Given the description of an element on the screen output the (x, y) to click on. 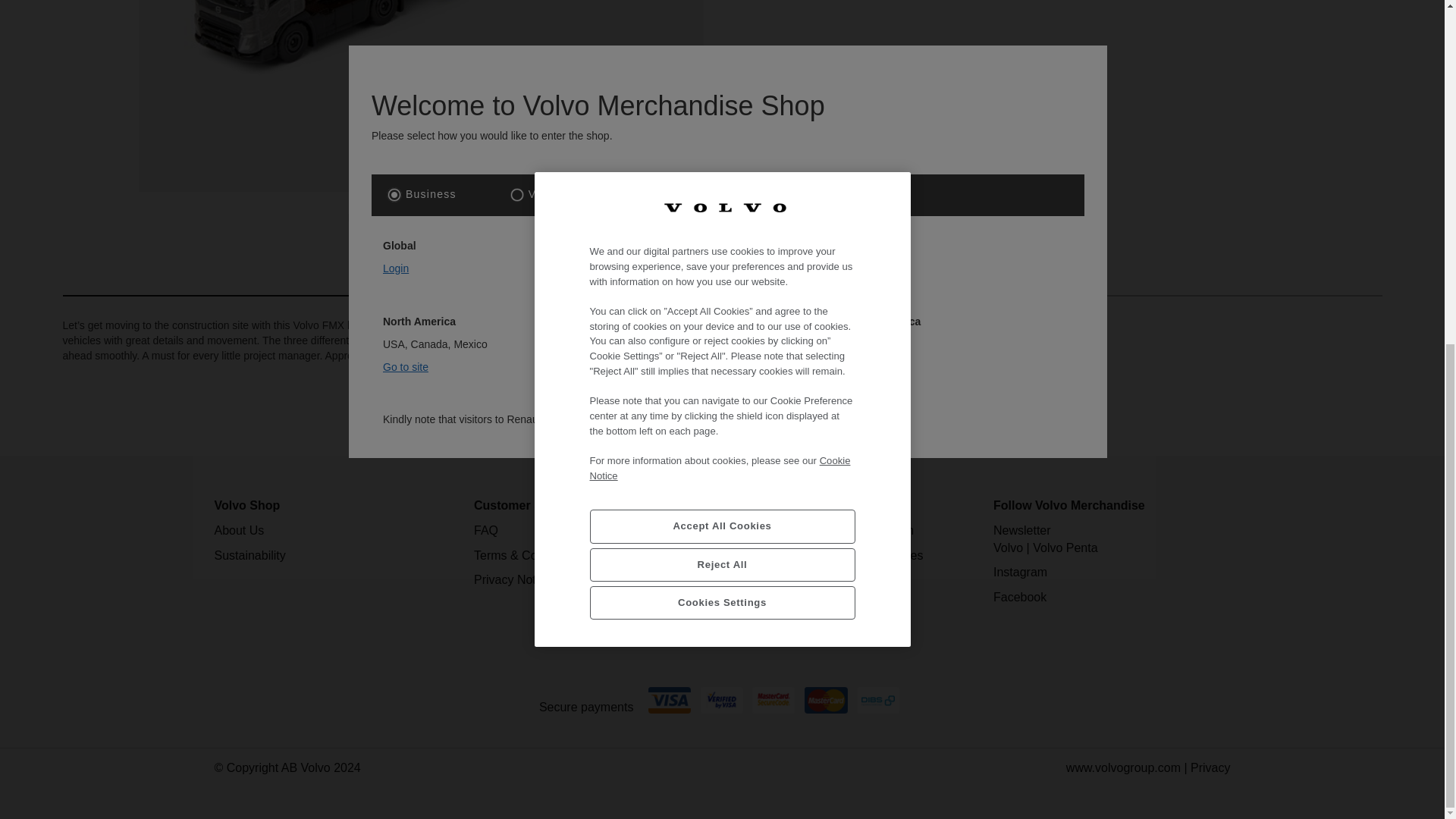
Download PDF (490, 218)
